Given the description of an element on the screen output the (x, y) to click on. 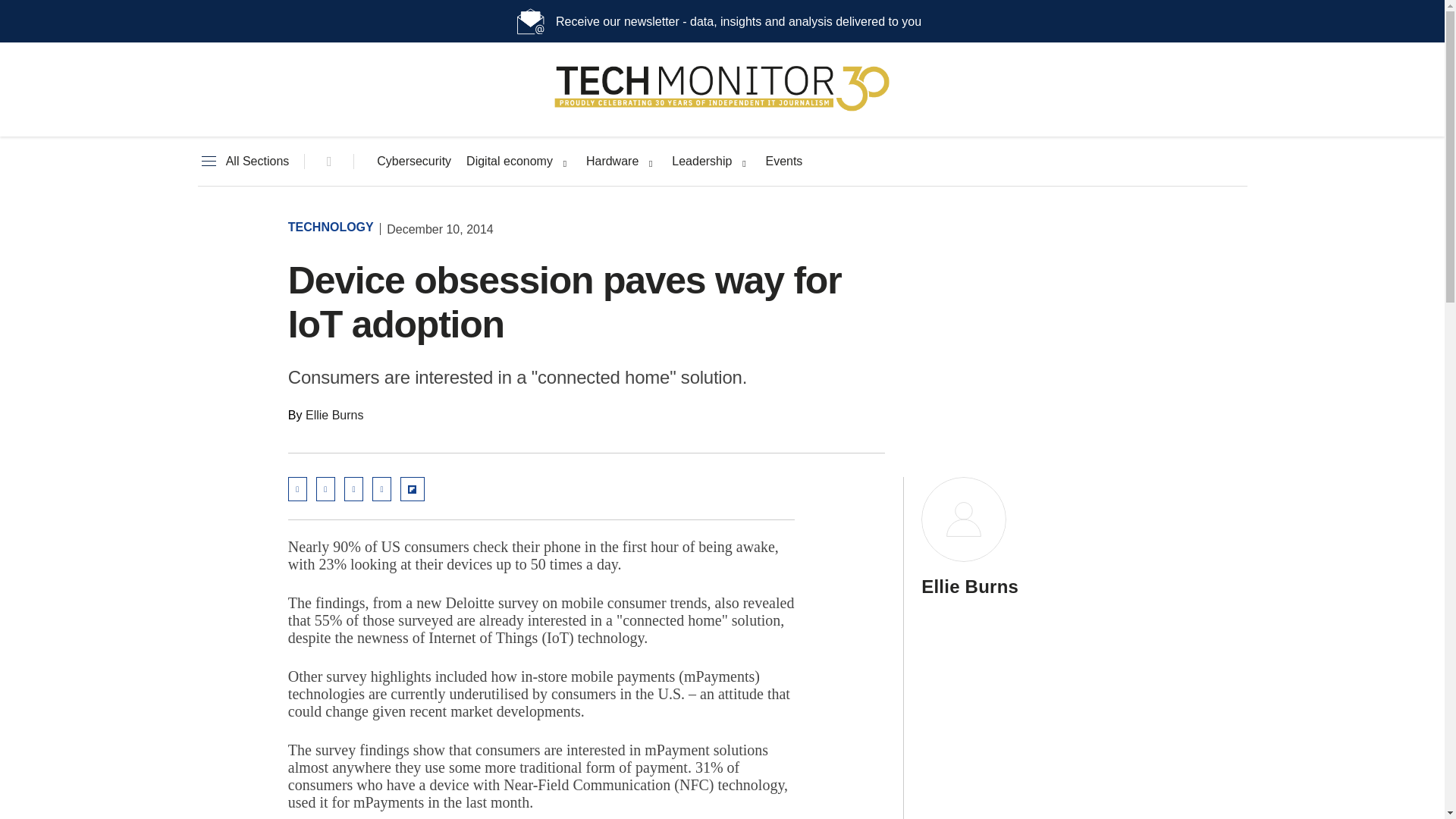
Leadership (701, 161)
3rd party ad content (1016, 312)
Share on facebook (381, 488)
Share on LinkedIN (324, 488)
Tech Monitor (722, 110)
Hardware (612, 161)
All Sections (242, 161)
Share on Twitter (352, 488)
Events (783, 161)
Share on Flipboard (412, 488)
Cybersecurity (414, 161)
Share in an email (297, 488)
Digital economy (509, 161)
